Given the description of an element on the screen output the (x, y) to click on. 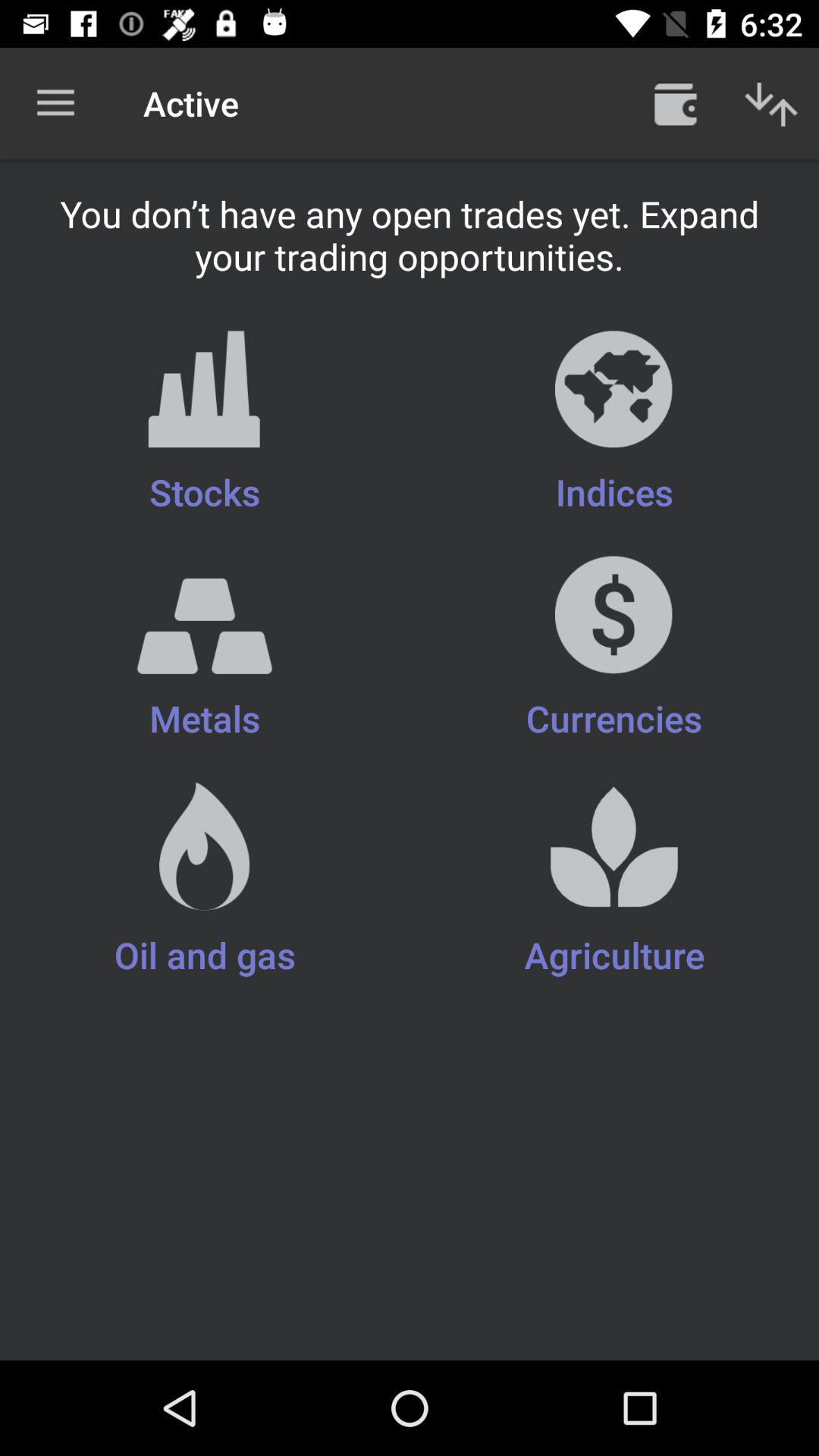
swipe until stocks (204, 423)
